Given the description of an element on the screen output the (x, y) to click on. 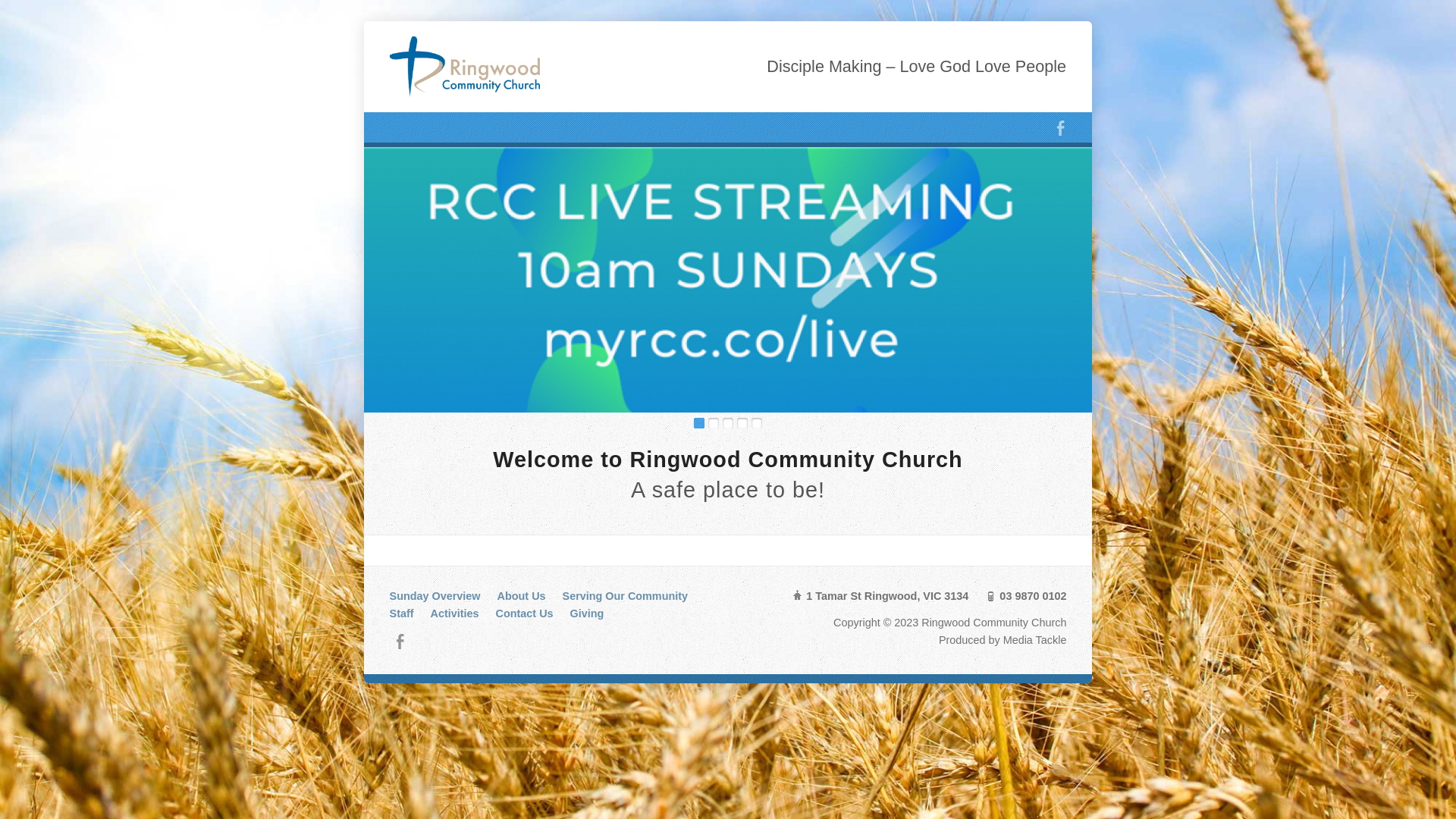
Staff Element type: text (401, 613)
Contact Us Element type: text (524, 613)
Facebook Element type: text (399, 640)
5 Element type: text (756, 422)
Activities Element type: text (454, 613)
3 Element type: text (727, 422)
Facebook Element type: text (1060, 127)
Serving Our Community Element type: text (625, 595)
1 Element type: text (698, 422)
2 Element type: text (713, 422)
4 Element type: text (742, 422)
About Us Element type: text (521, 595)
Sunday Overview Element type: text (434, 595)
Giving Element type: text (587, 613)
